Given the description of an element on the screen output the (x, y) to click on. 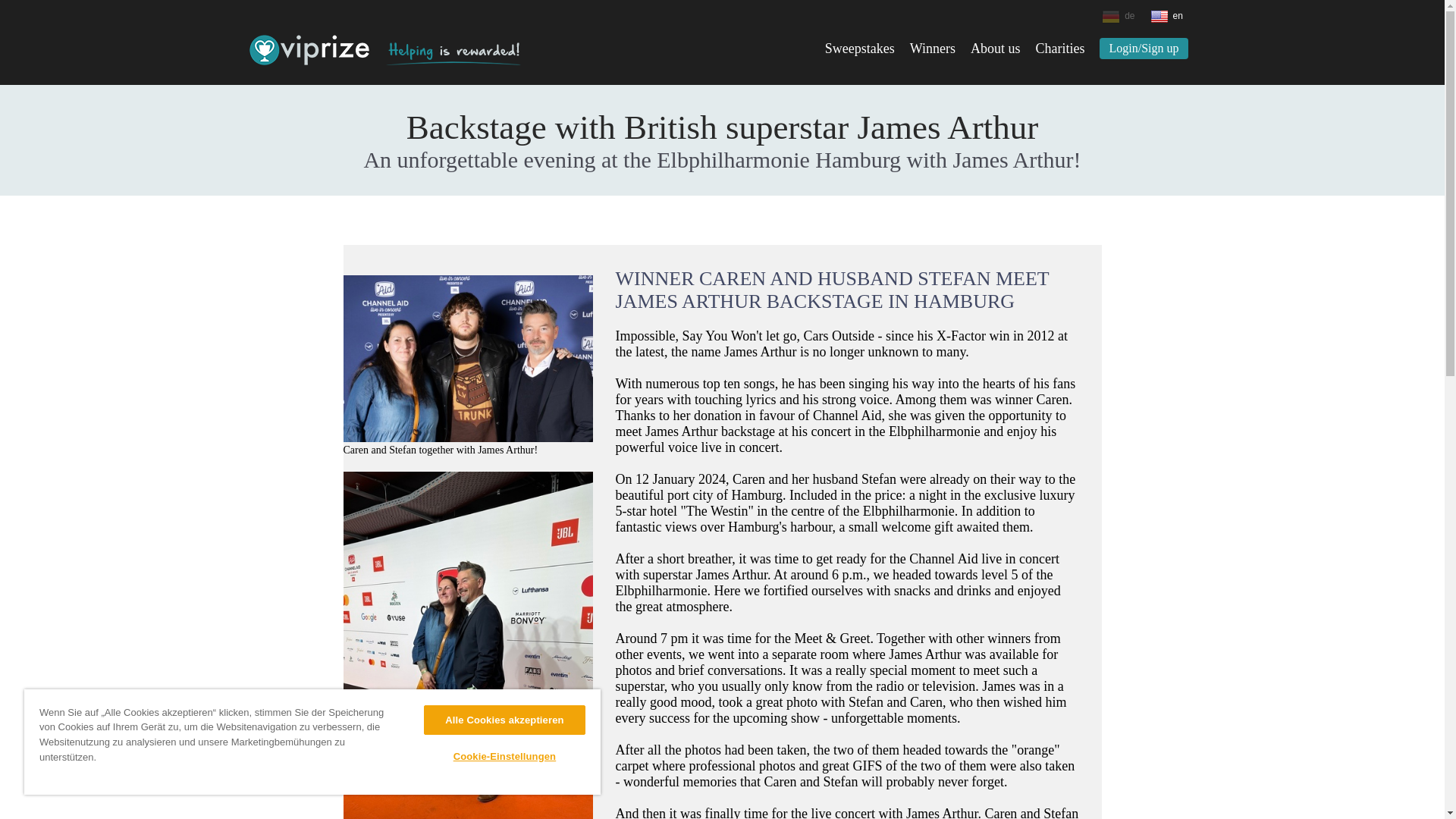
Sweepstakes (860, 48)
en (1172, 19)
Charities (1059, 48)
Winners (932, 48)
support charity organisations (452, 53)
ViPrize - Tue gutes und Gewinne (308, 50)
About us (995, 48)
de (1124, 19)
